Given the description of an element on the screen output the (x, y) to click on. 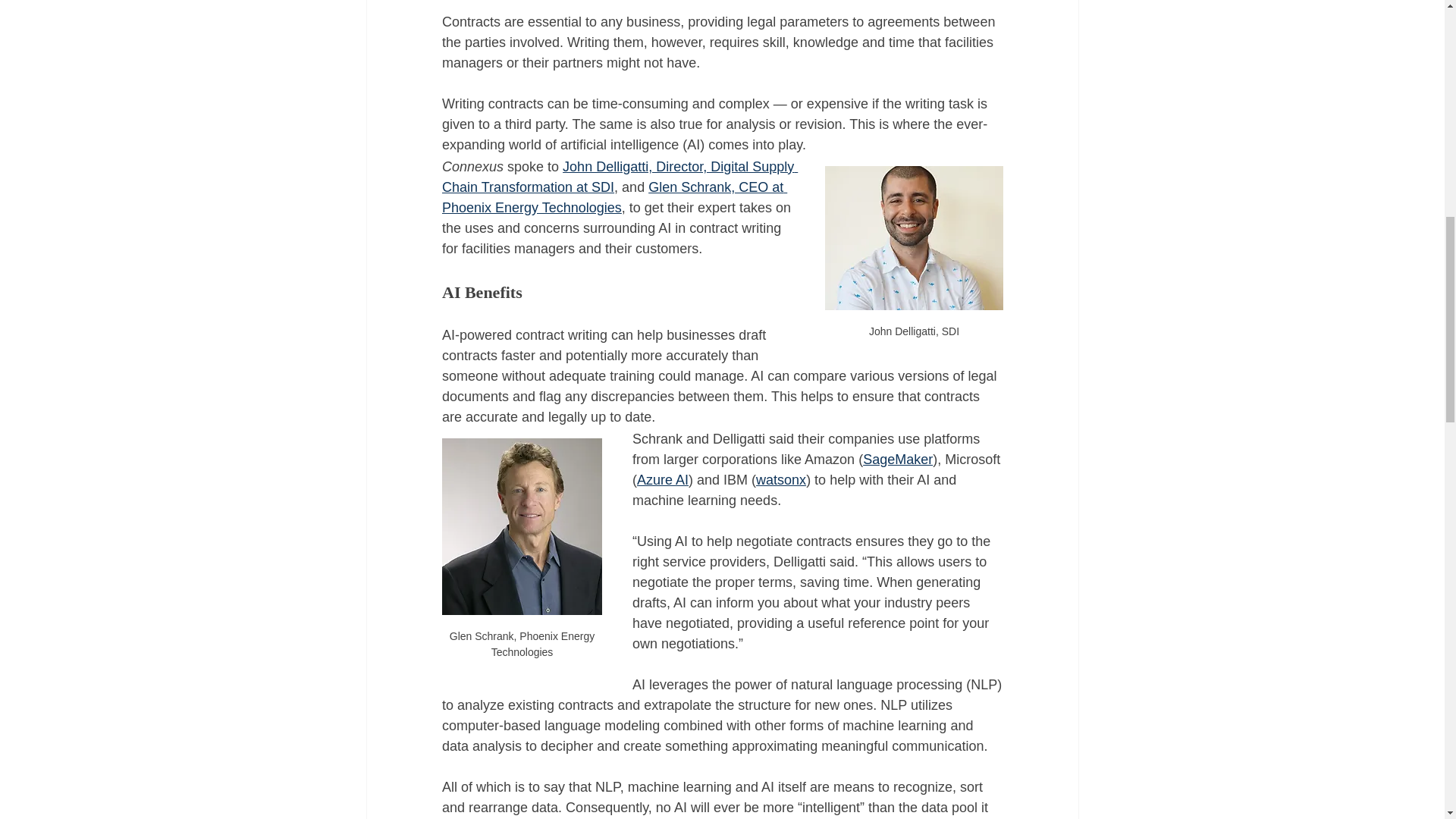
watsonx (780, 479)
Glen Schrank, CEO at Phoenix Energy Technologies (613, 197)
Azure AI (662, 479)
SageMaker (898, 459)
